Given the description of an element on the screen output the (x, y) to click on. 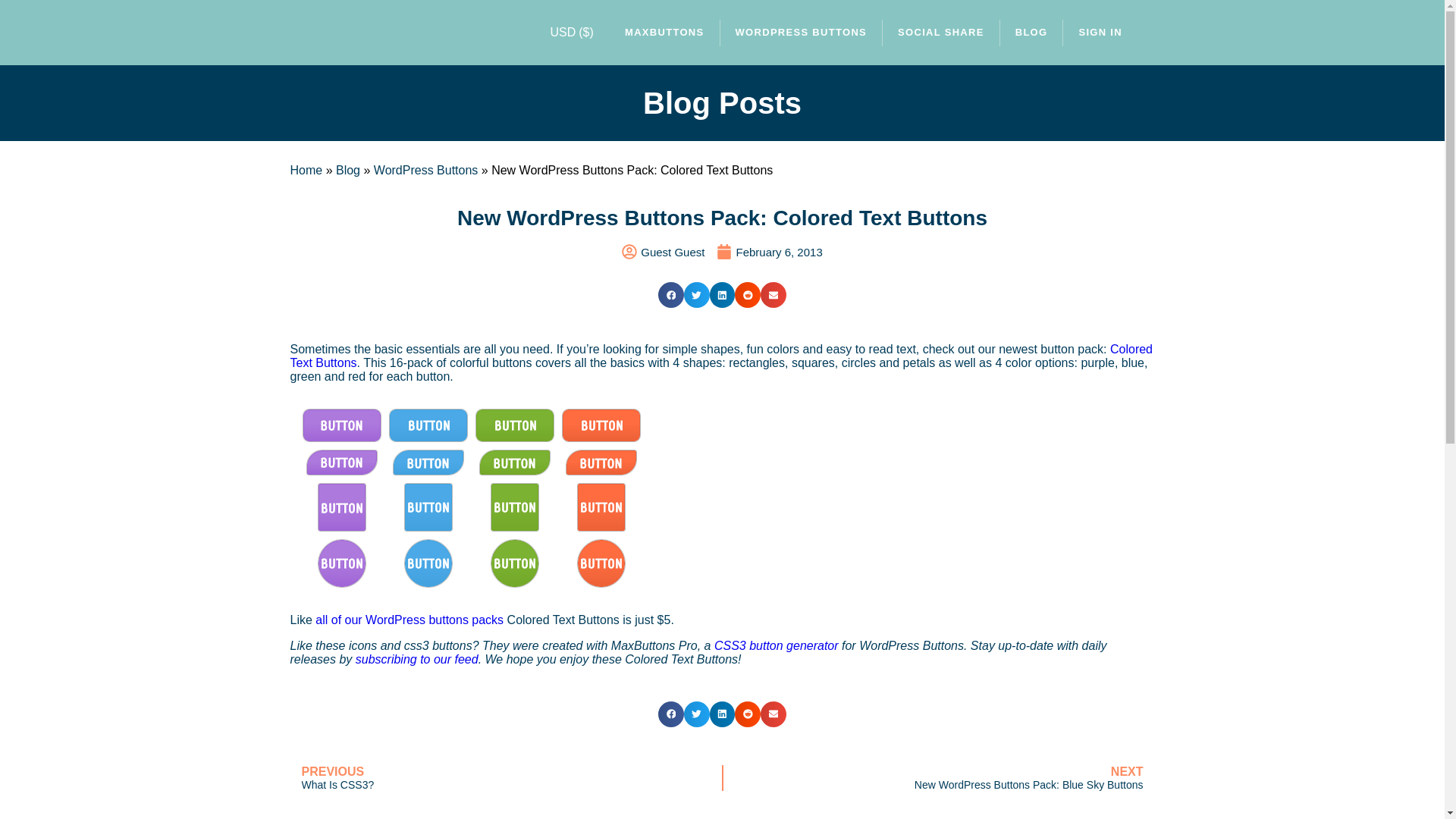
February 6, 2013 (769, 251)
WordPress Buttons Pack - Colored Text Buttons (468, 496)
Blog (347, 169)
Colored Text Buttons (721, 356)
all of our WordPress buttons packs (409, 619)
SOCIAL SHARE (940, 32)
subscribing to our feed (504, 777)
Home (417, 658)
